Given the description of an element on the screen output the (x, y) to click on. 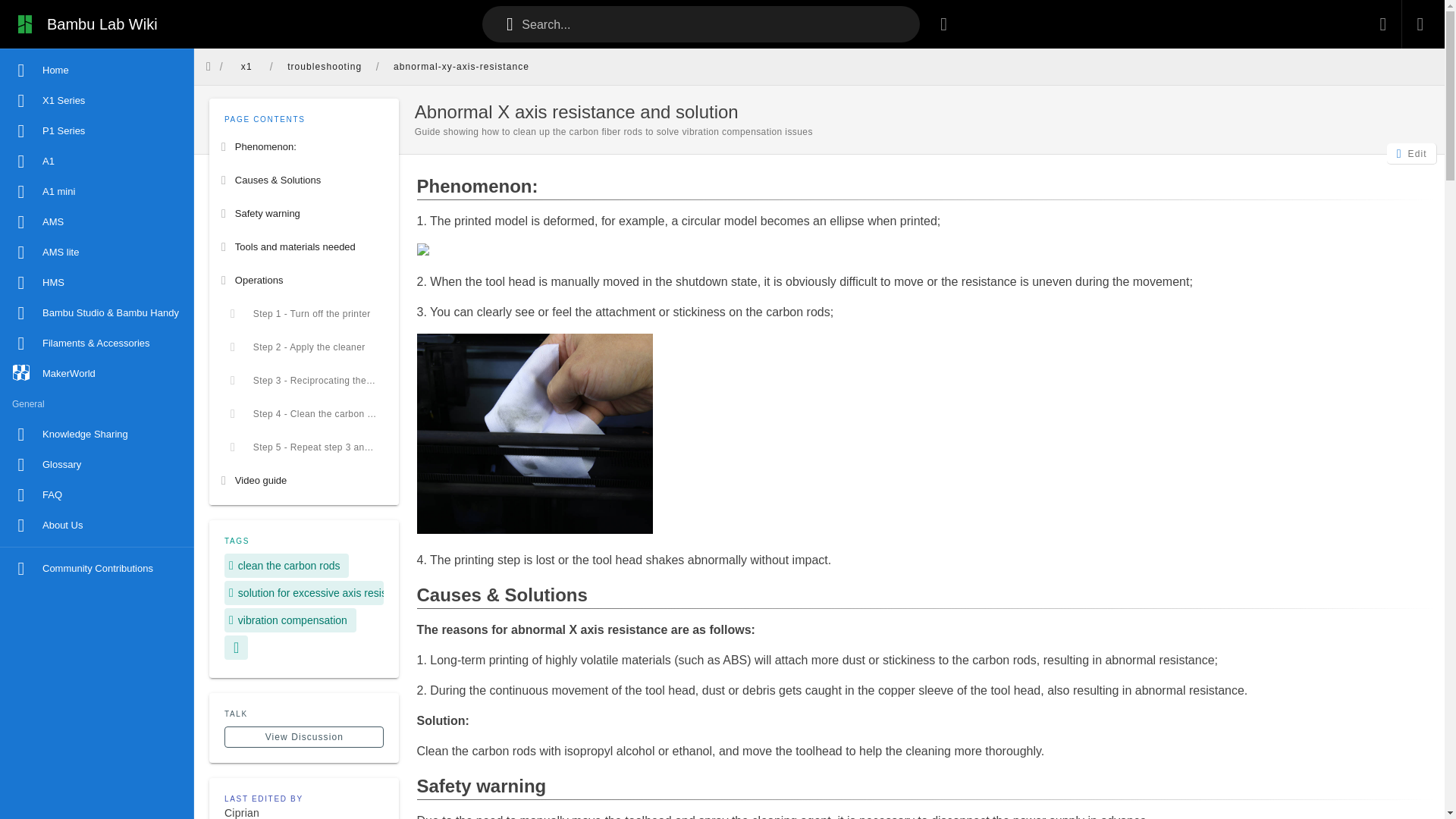
troubleshooting (324, 66)
abnormal-xy-axis-resistance (461, 66)
vibration compensation (290, 620)
Glossary (96, 464)
solution for excessive axis resistance (304, 592)
FAQ (96, 494)
View Discussion (304, 736)
Edit (1412, 153)
P1 Series (96, 131)
A1 mini (96, 191)
A1 (96, 161)
clean the carbon rods (286, 565)
AMS lite (96, 252)
Community Contributions (96, 568)
x1 (245, 66)
